Given the description of an element on the screen output the (x, y) to click on. 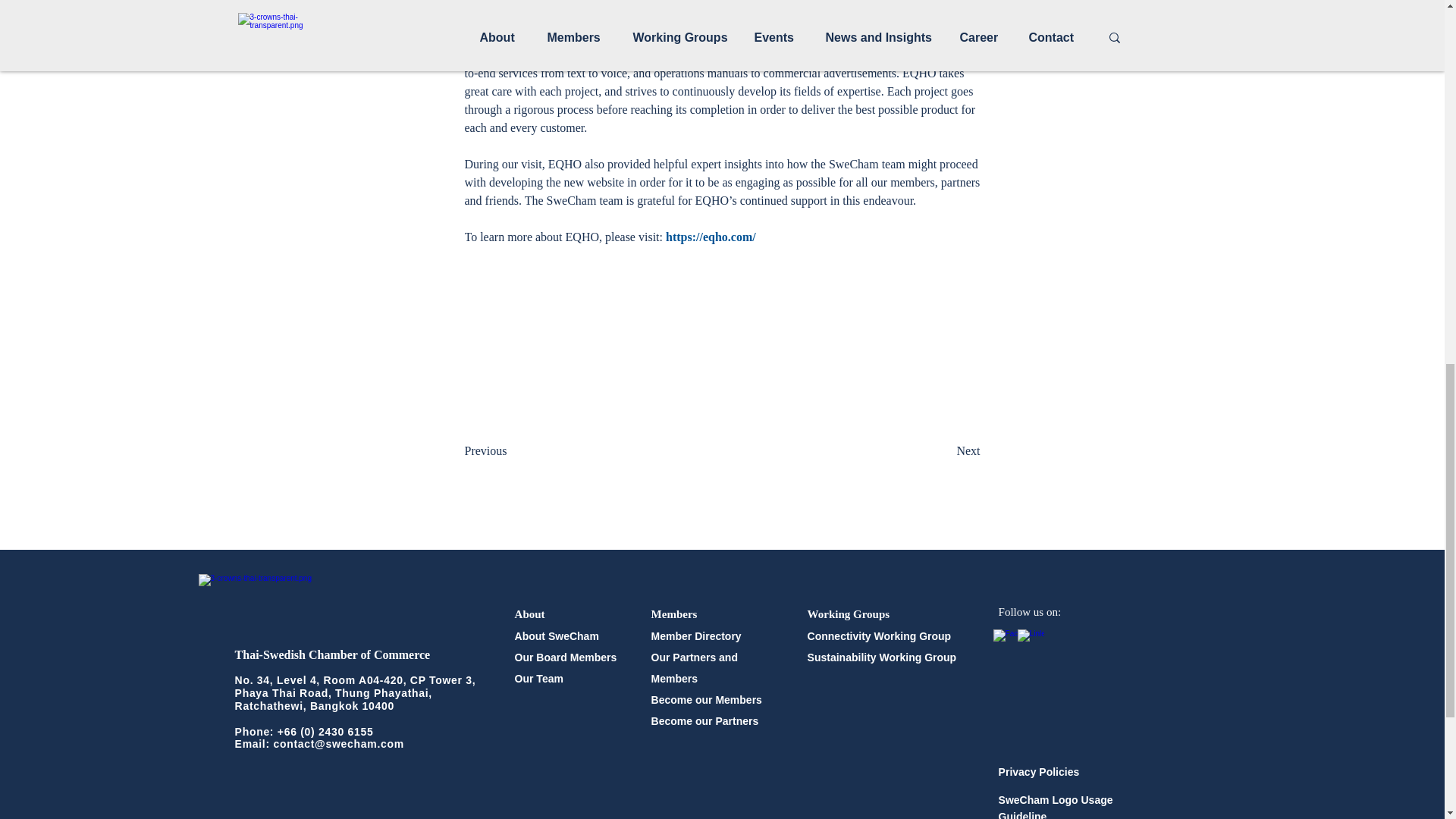
Our Team (539, 678)
cham.com (375, 743)
Connectivity Working Group (880, 635)
Next (941, 450)
Previous (514, 450)
Privacy Policies (1039, 771)
About SweCham (556, 635)
Working Groups (848, 613)
Our Board Members (566, 657)
Our Partners and Members (694, 667)
